Given the description of an element on the screen output the (x, y) to click on. 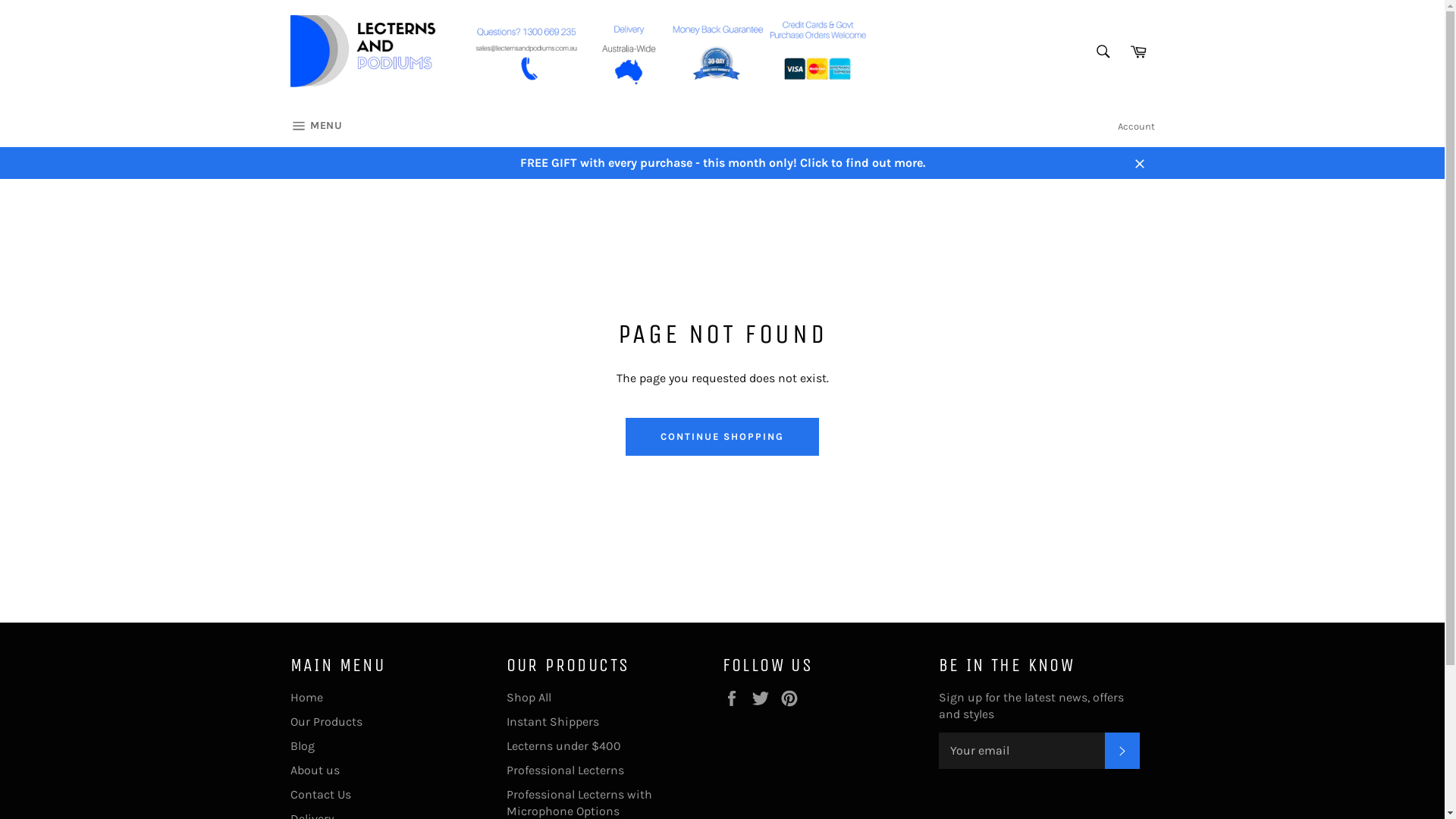
Cart Element type: text (1138, 50)
SUBSCRIBE Element type: text (1121, 750)
About us Element type: text (313, 769)
Professional Lecterns Element type: text (565, 769)
Contact Us Element type: text (319, 794)
Instant Shippers Element type: text (552, 721)
Our Products Element type: text (325, 721)
Search Element type: text (1103, 50)
Lecterns under $400 Element type: text (563, 745)
Account Element type: text (1136, 126)
Shop All Element type: text (528, 697)
Home Element type: text (305, 697)
Twitter Element type: text (763, 698)
Pinterest Element type: text (792, 698)
Blog Element type: text (301, 745)
Professional Lecterns with Microphone Options Element type: text (579, 802)
CONTINUE SHOPPING Element type: text (722, 436)
MENU
SITE NAVIGATION Element type: text (315, 126)
Close Element type: text (1138, 162)
Facebook Element type: text (734, 698)
